Given the description of an element on the screen output the (x, y) to click on. 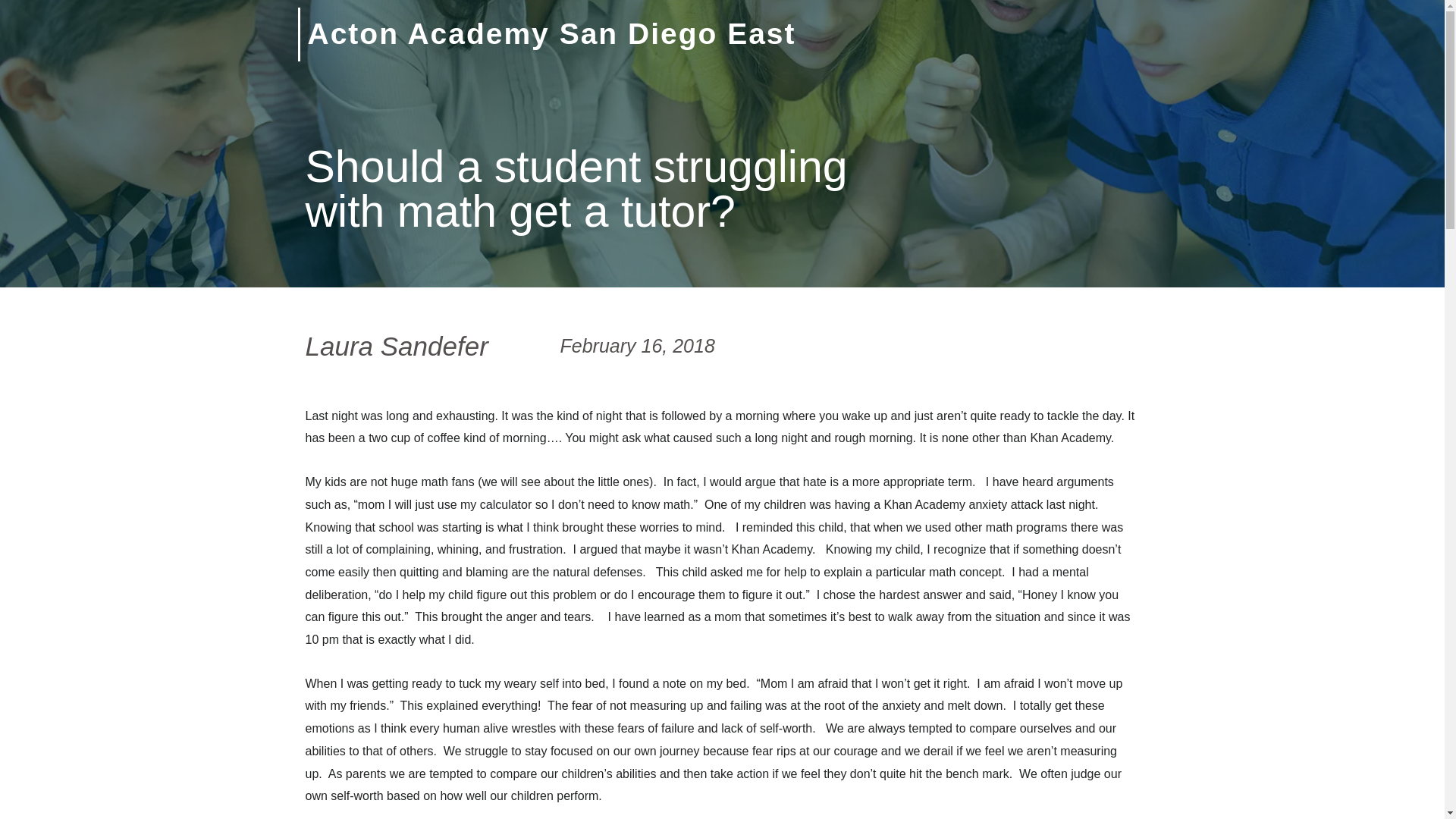
Acton Academy San Diego East (551, 33)
